Given the description of an element on the screen output the (x, y) to click on. 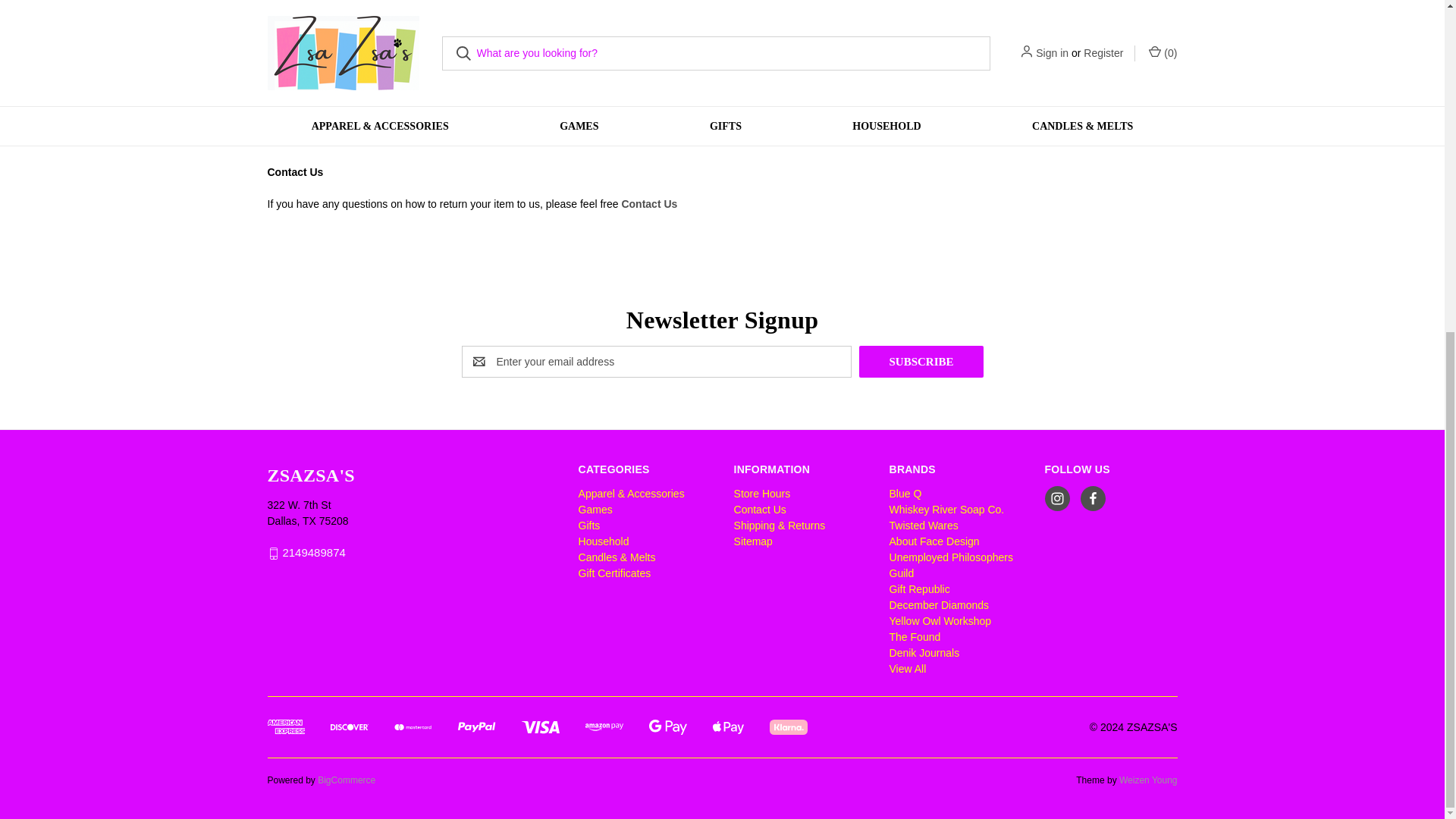
Subscribe (920, 361)
